Given the description of an element on the screen output the (x, y) to click on. 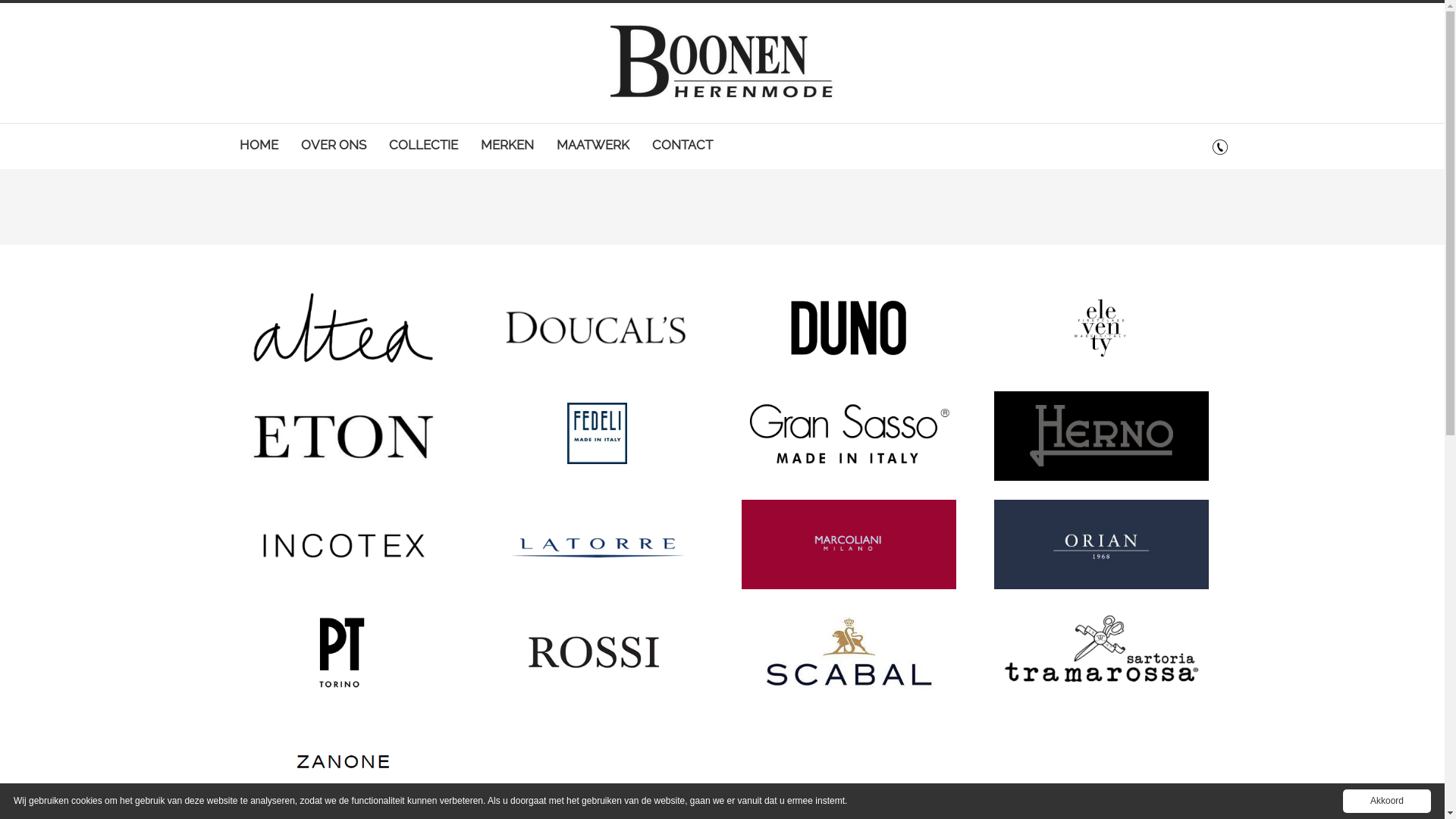
MERKEN Element type: text (506, 150)
CONTACT Element type: text (682, 150)
MAATWERK Element type: text (592, 150)
COLLECTIE Element type: text (423, 150)
HOME Element type: text (258, 150)
OVER ONS Element type: text (333, 150)
